Given the description of an element on the screen output the (x, y) to click on. 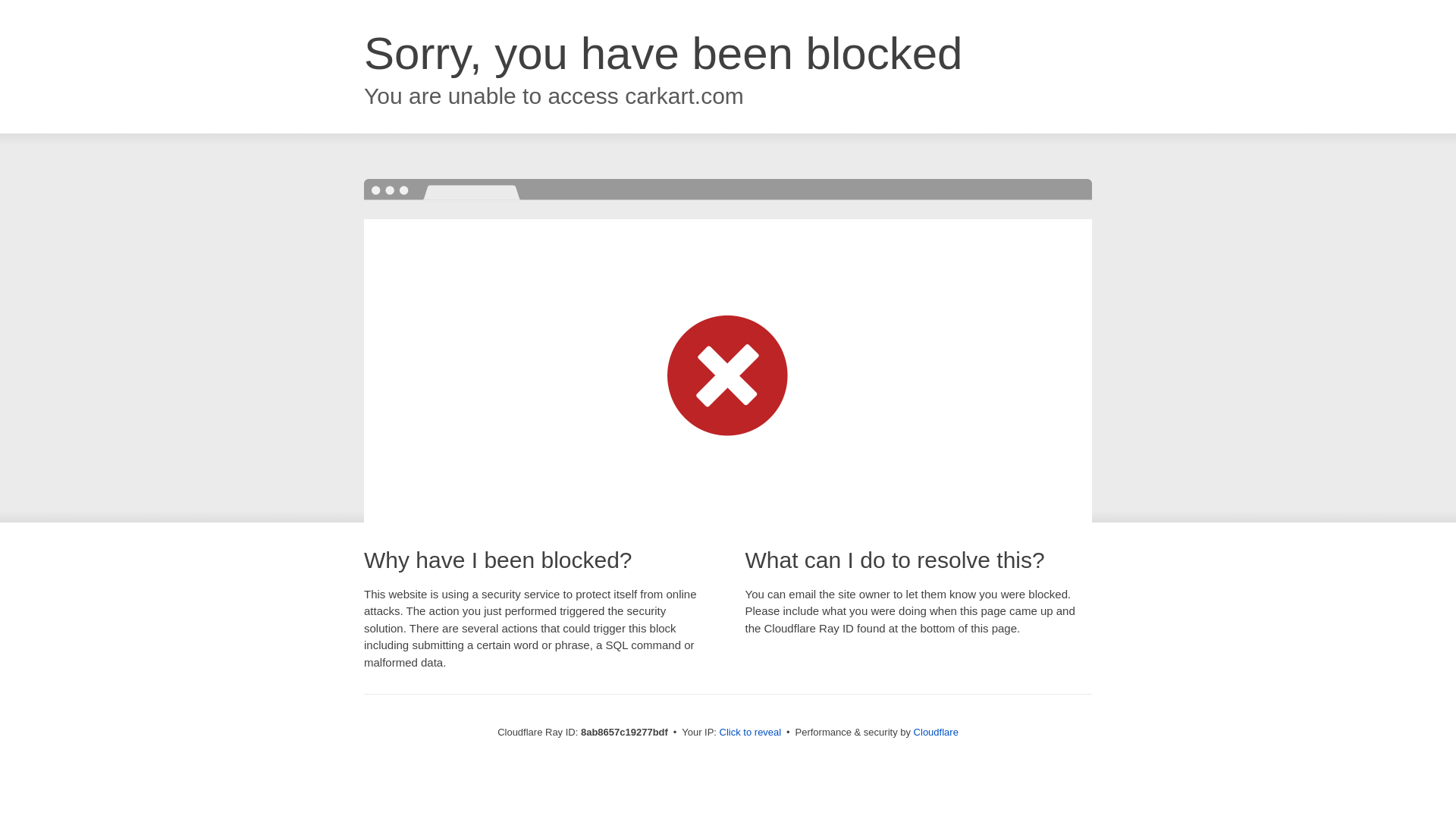
Cloudflare (936, 731)
Click to reveal (750, 732)
